Given the description of an element on the screen output the (x, y) to click on. 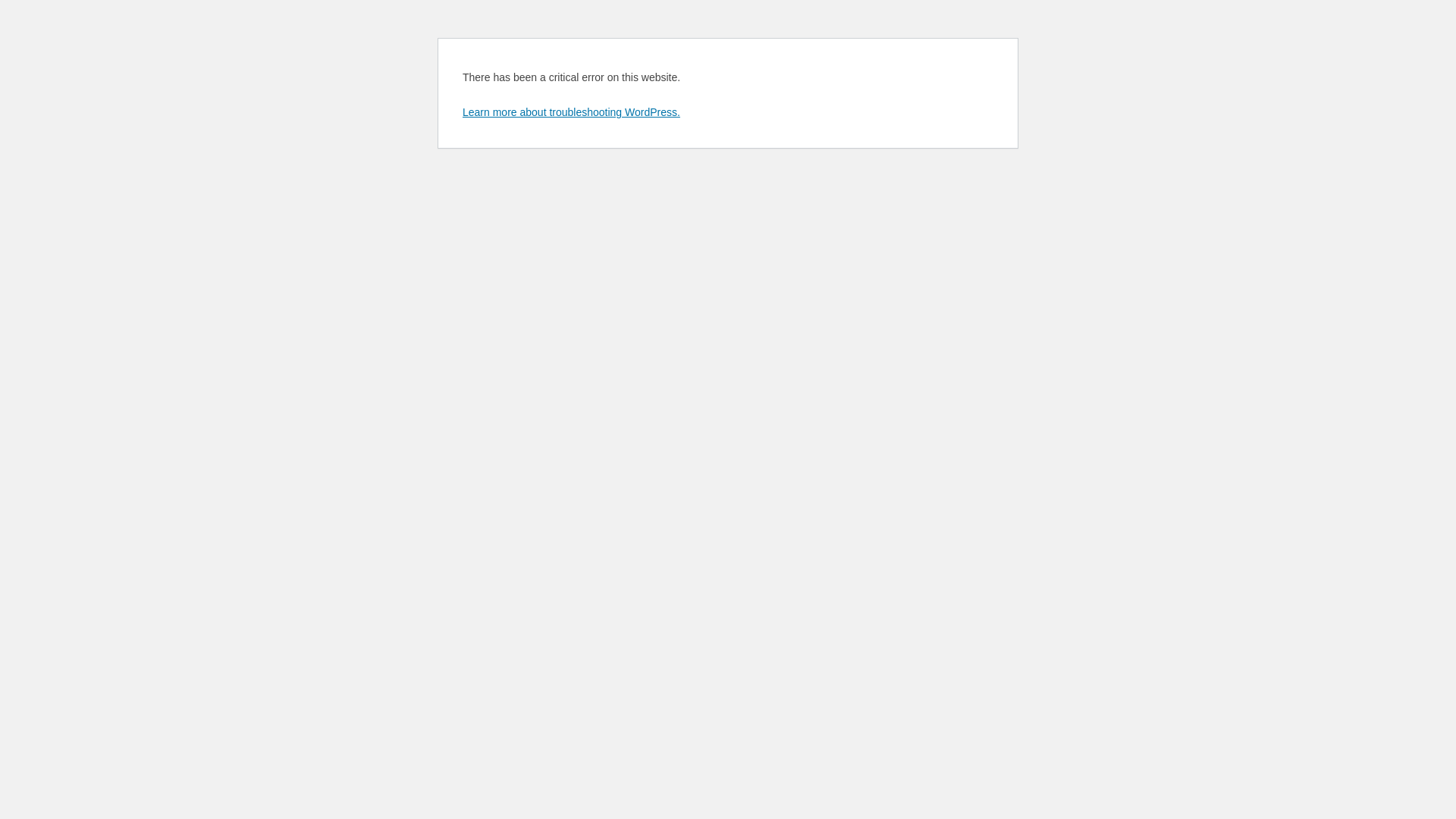
Learn more about troubleshooting WordPress. Element type: text (571, 112)
